Given the description of an element on the screen output the (x, y) to click on. 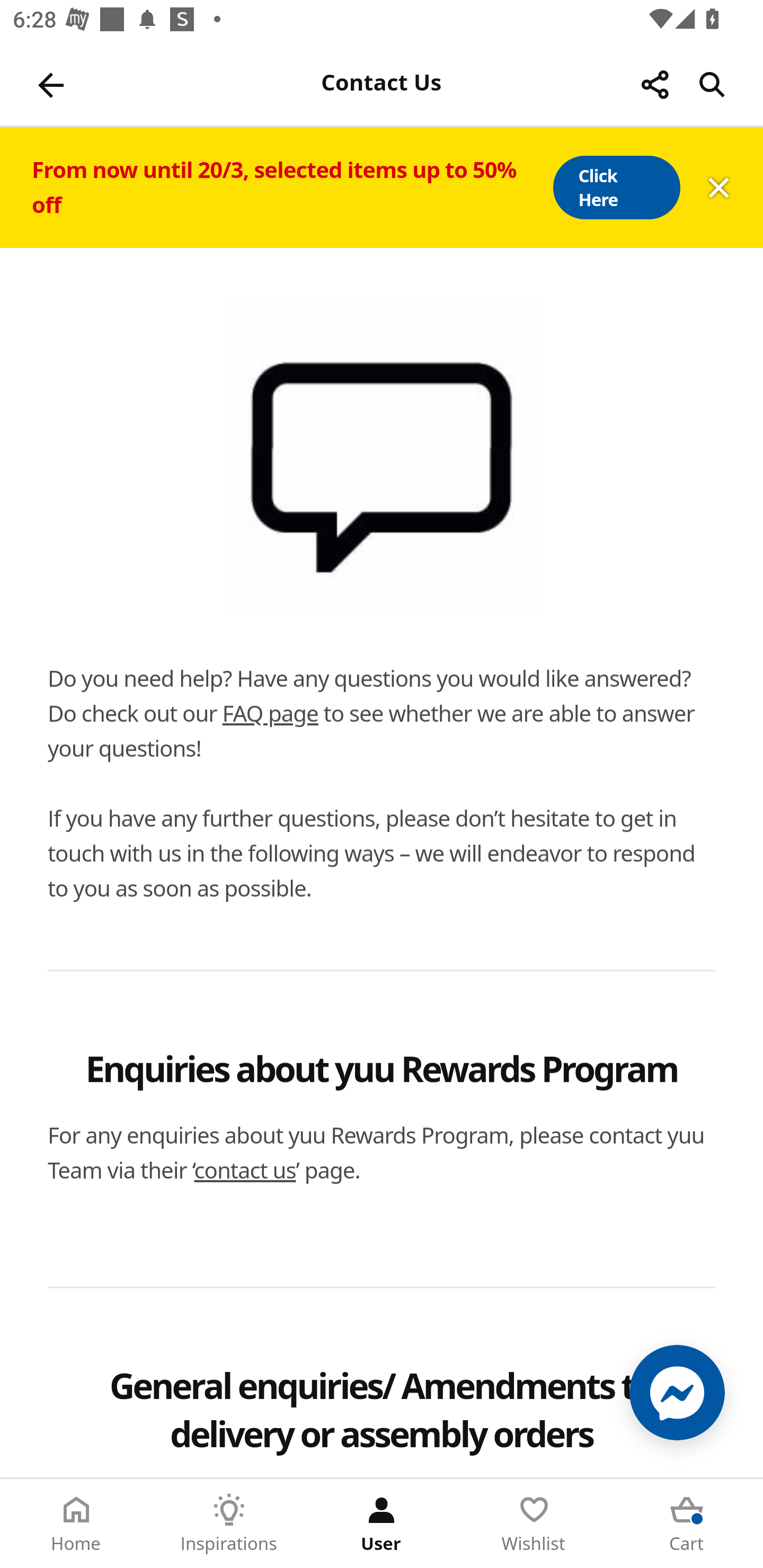
Click Here (615, 187)
FAQ page (270, 713)
contact us (245, 1169)
Home
Tab 1 of 5 (76, 1522)
Inspirations
Tab 2 of 5 (228, 1522)
User
Tab 3 of 5 (381, 1522)
Wishlist
Tab 4 of 5 (533, 1522)
Cart
Tab 5 of 5 (686, 1522)
